Given the description of an element on the screen output the (x, y) to click on. 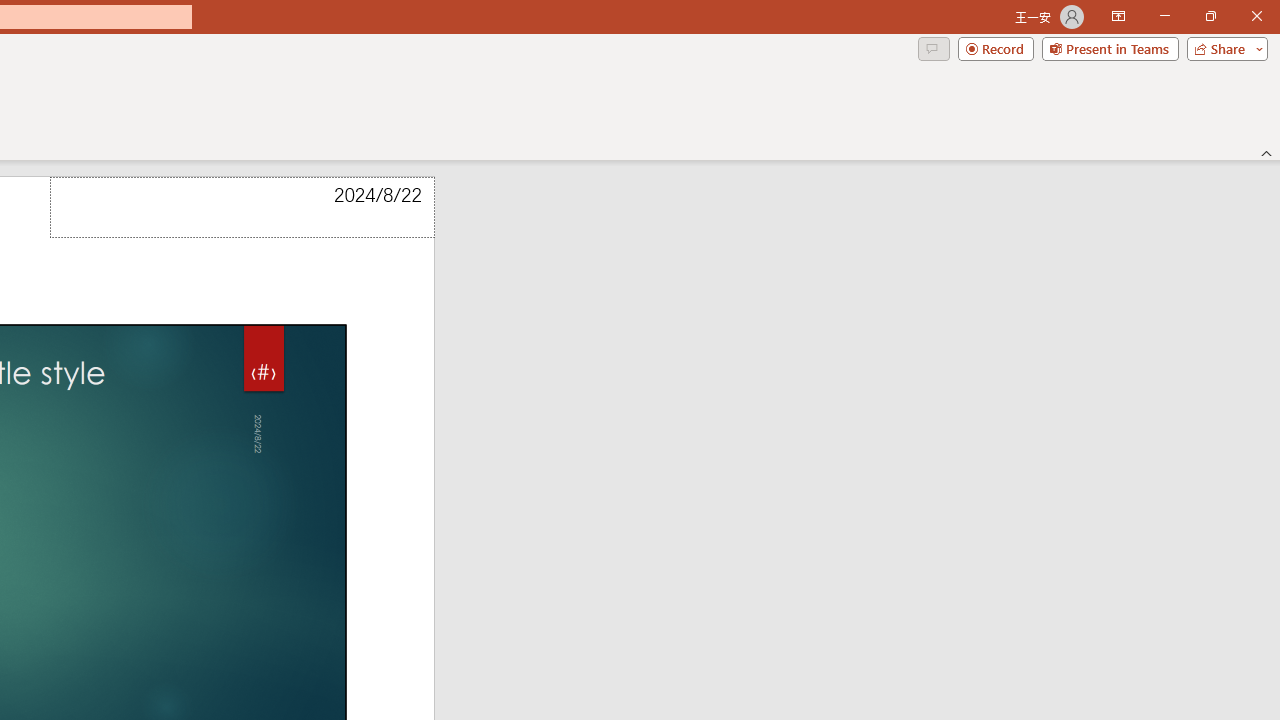
Date (242, 207)
